Given the description of an element on the screen output the (x, y) to click on. 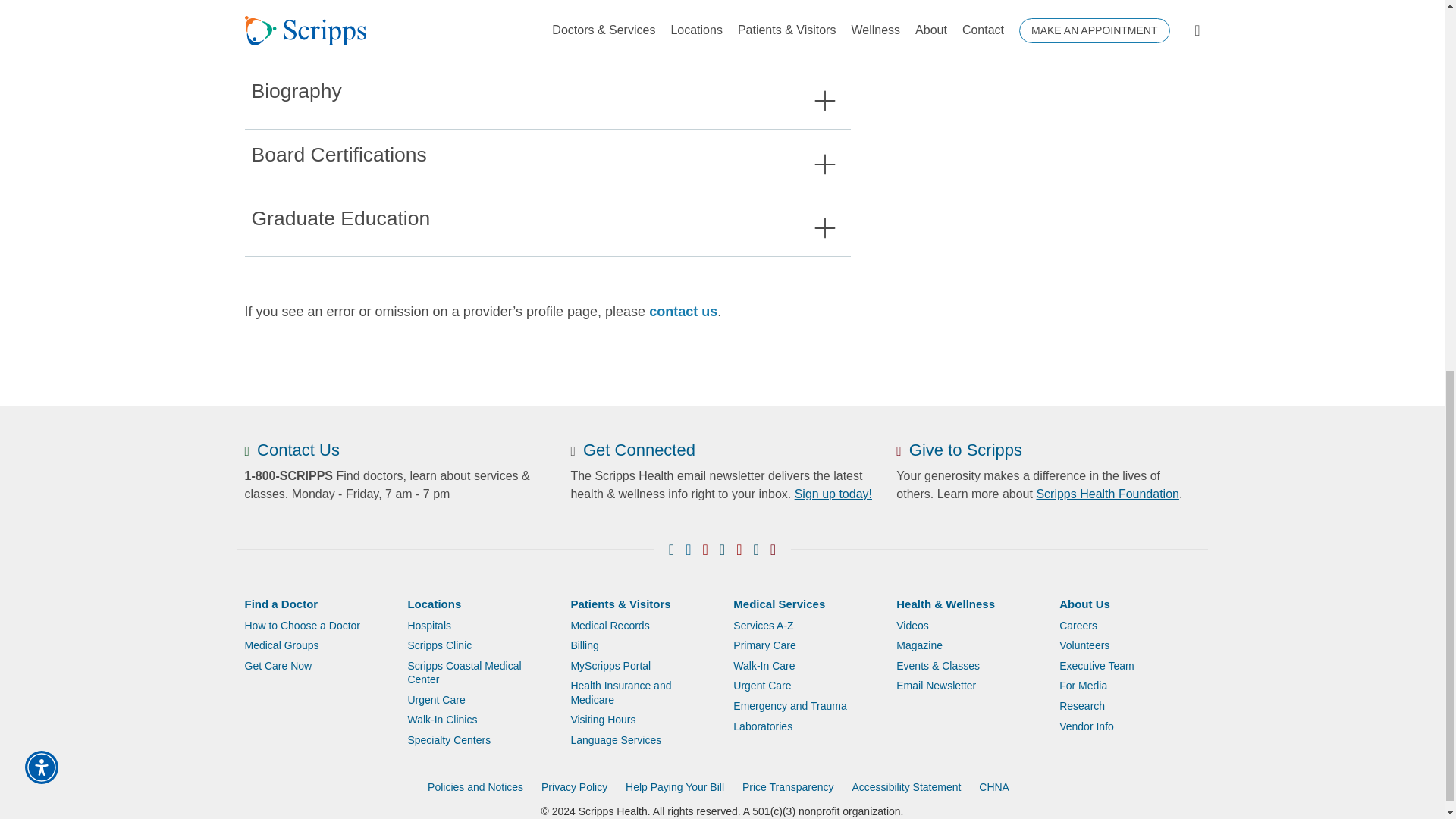
1-800-SCRIPPS (288, 475)
Accessibility Menu (41, 81)
